Given the description of an element on the screen output the (x, y) to click on. 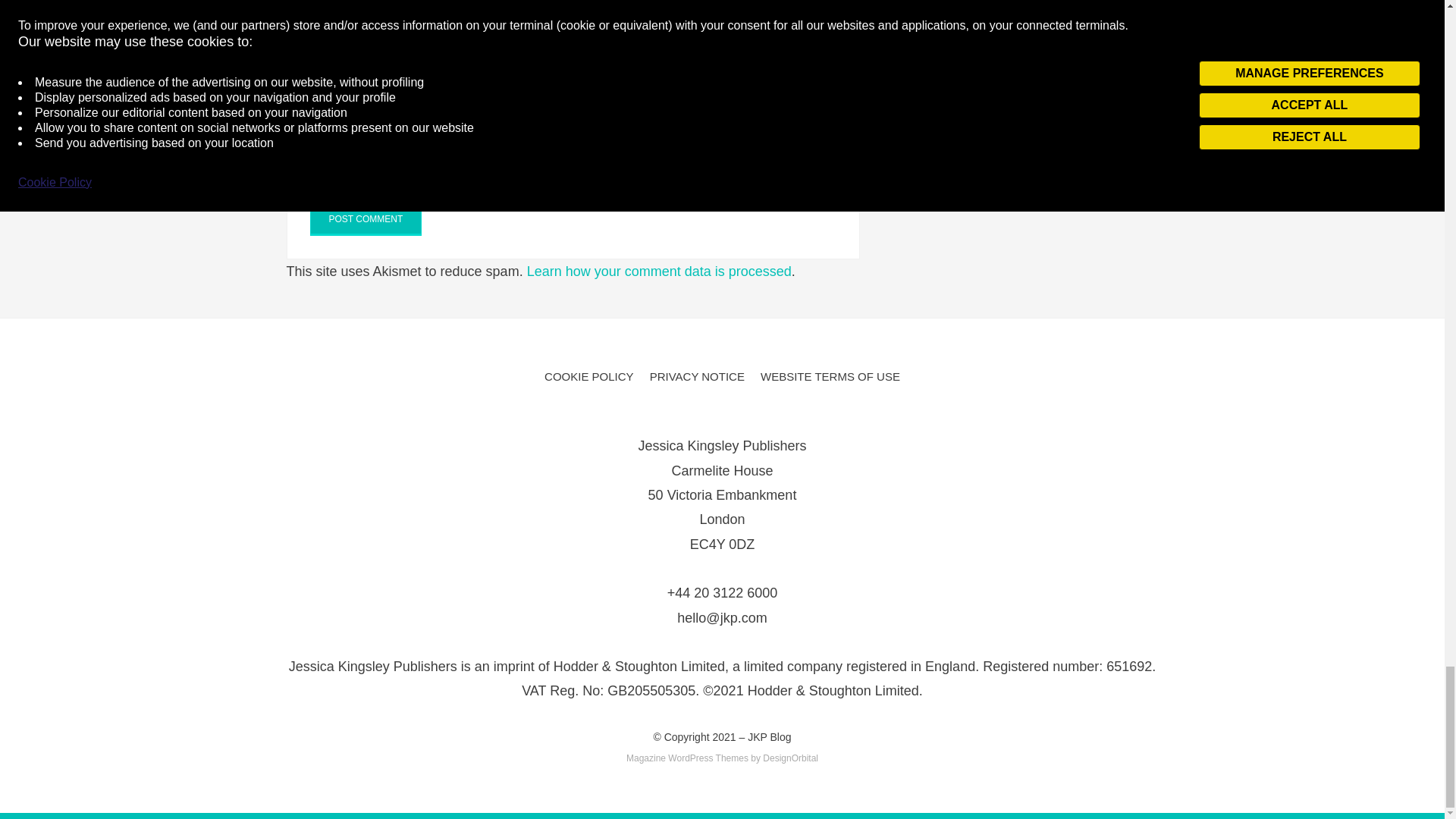
Post Comment (365, 219)
yes (313, 142)
